Given the description of an element on the screen output the (x, y) to click on. 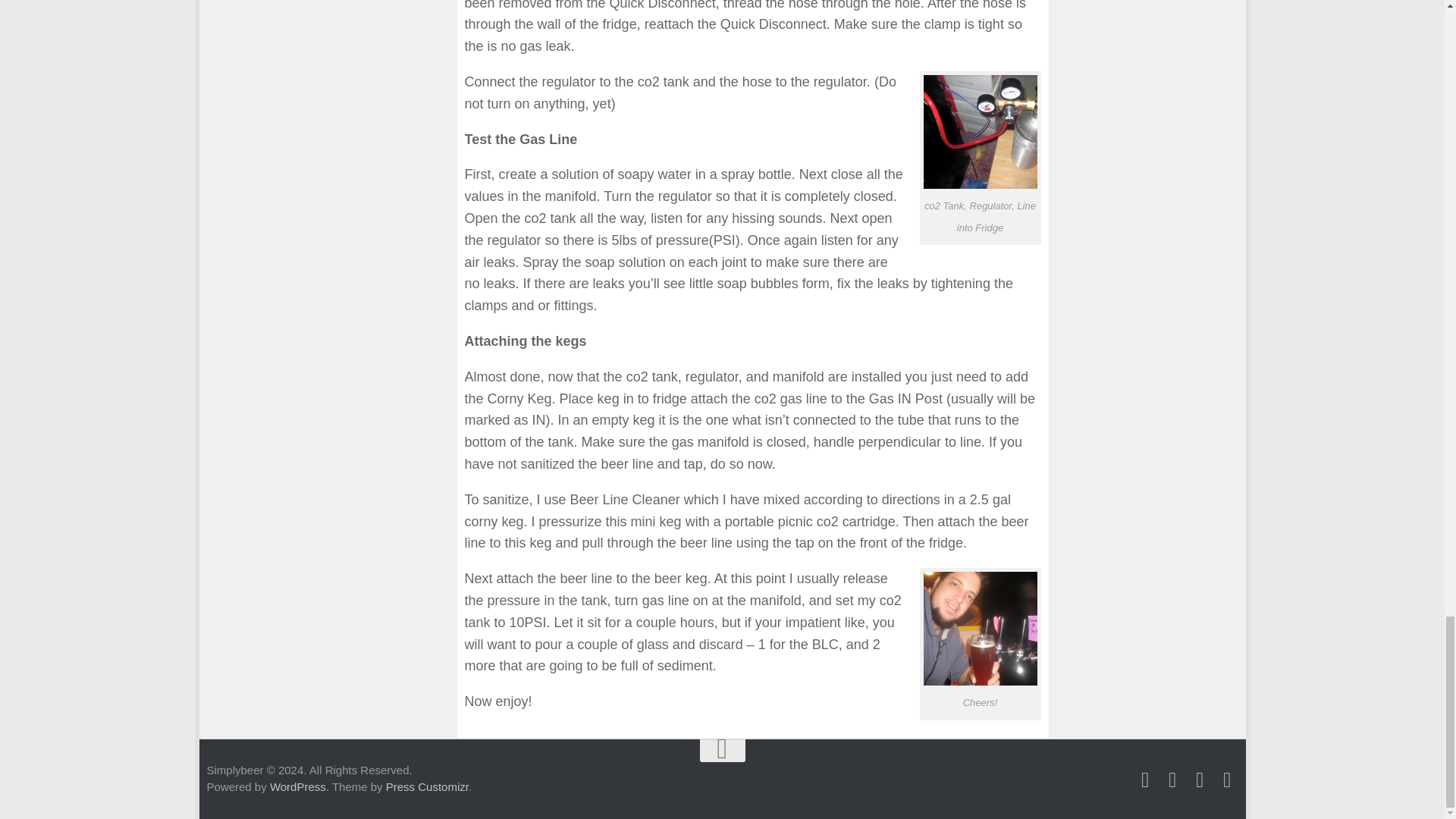
pic-054 (979, 628)
pic-004 (979, 132)
